Given the description of an element on the screen output the (x, y) to click on. 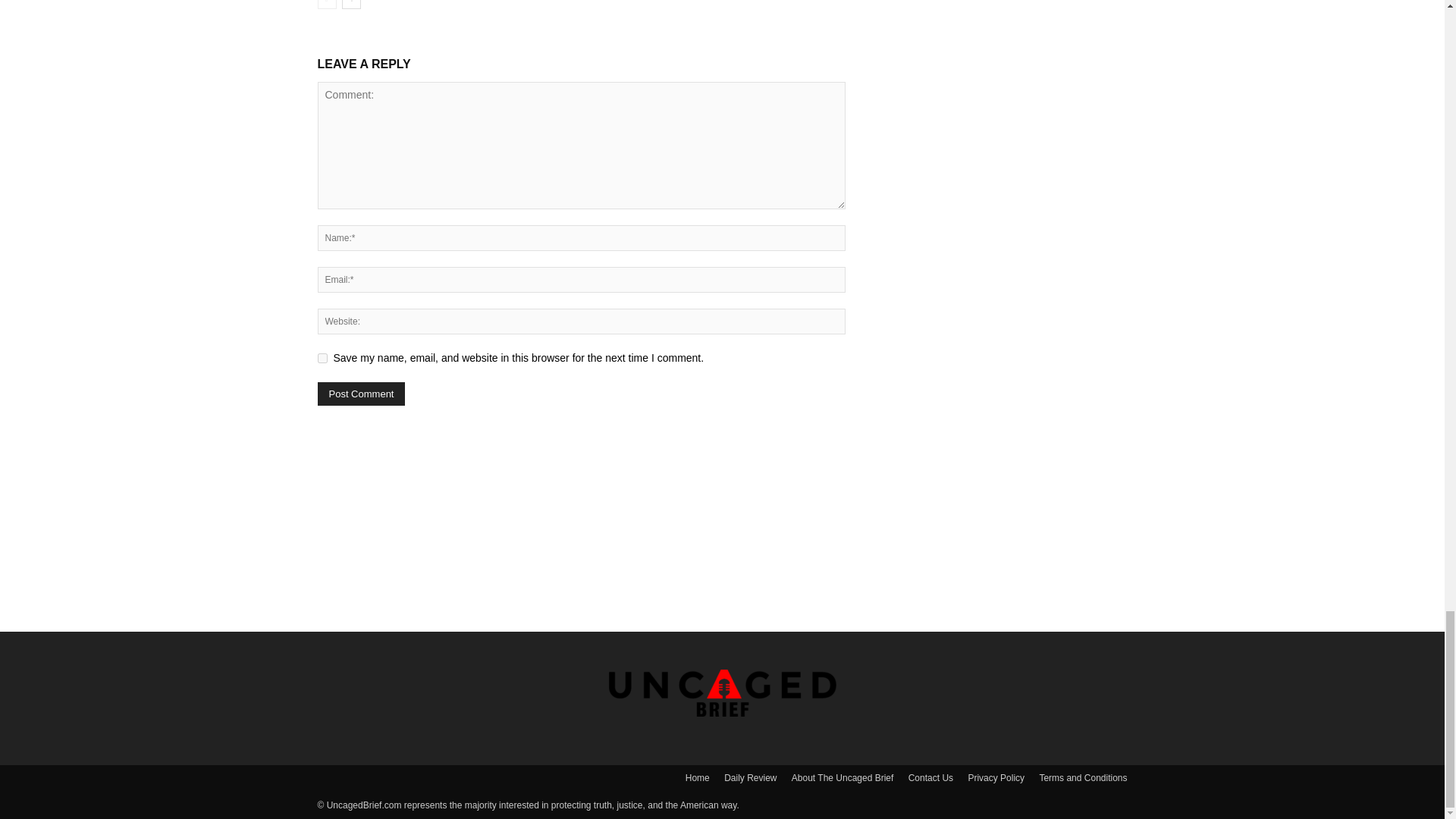
yes (321, 357)
Post Comment (360, 393)
